Given the description of an element on the screen output the (x, y) to click on. 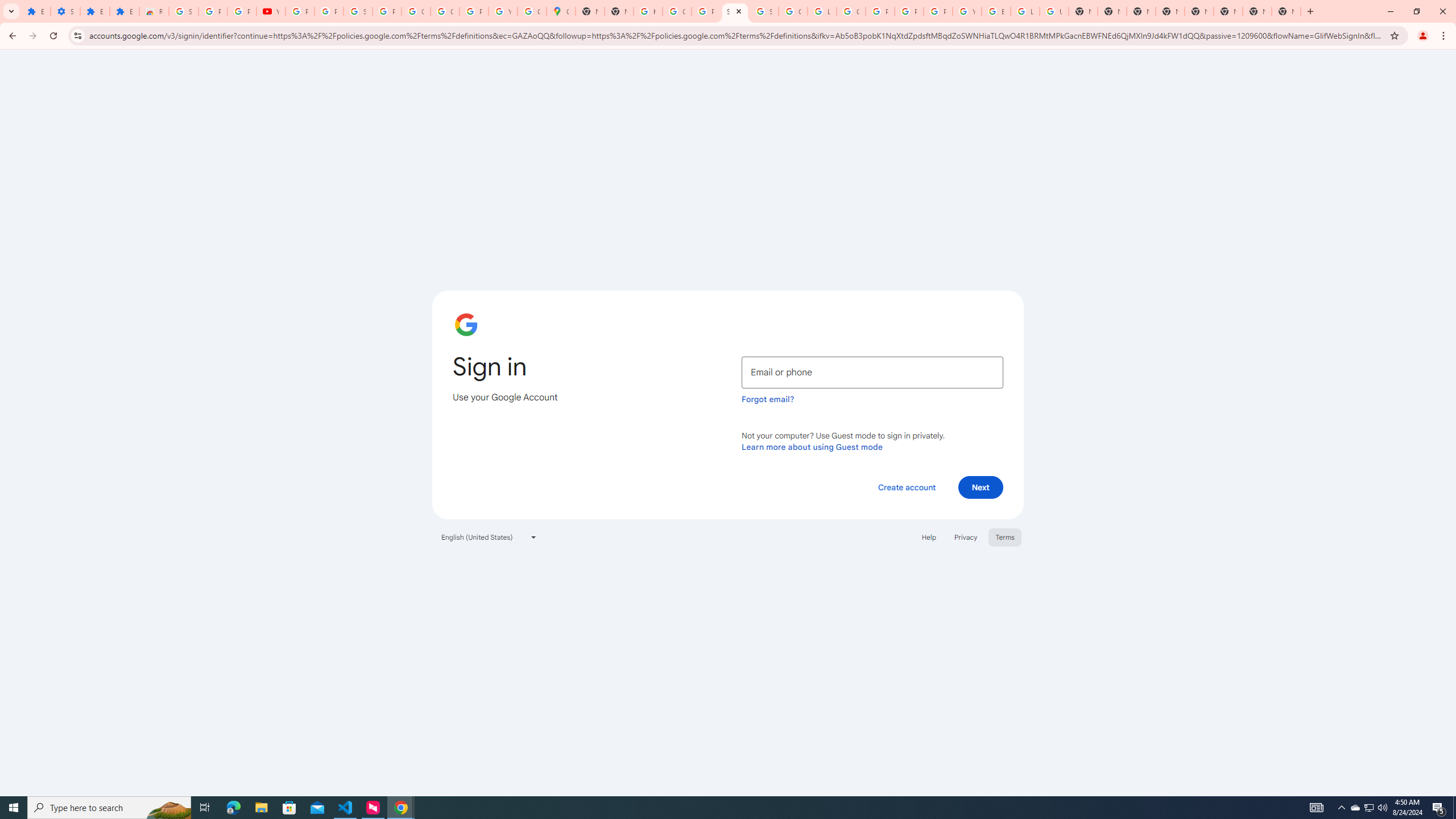
Sign in - Google Accounts (357, 11)
https://scholar.google.com/ (648, 11)
YouTube (502, 11)
Learn more about using Guest mode (812, 446)
Extensions (124, 11)
